Given the description of an element on the screen output the (x, y) to click on. 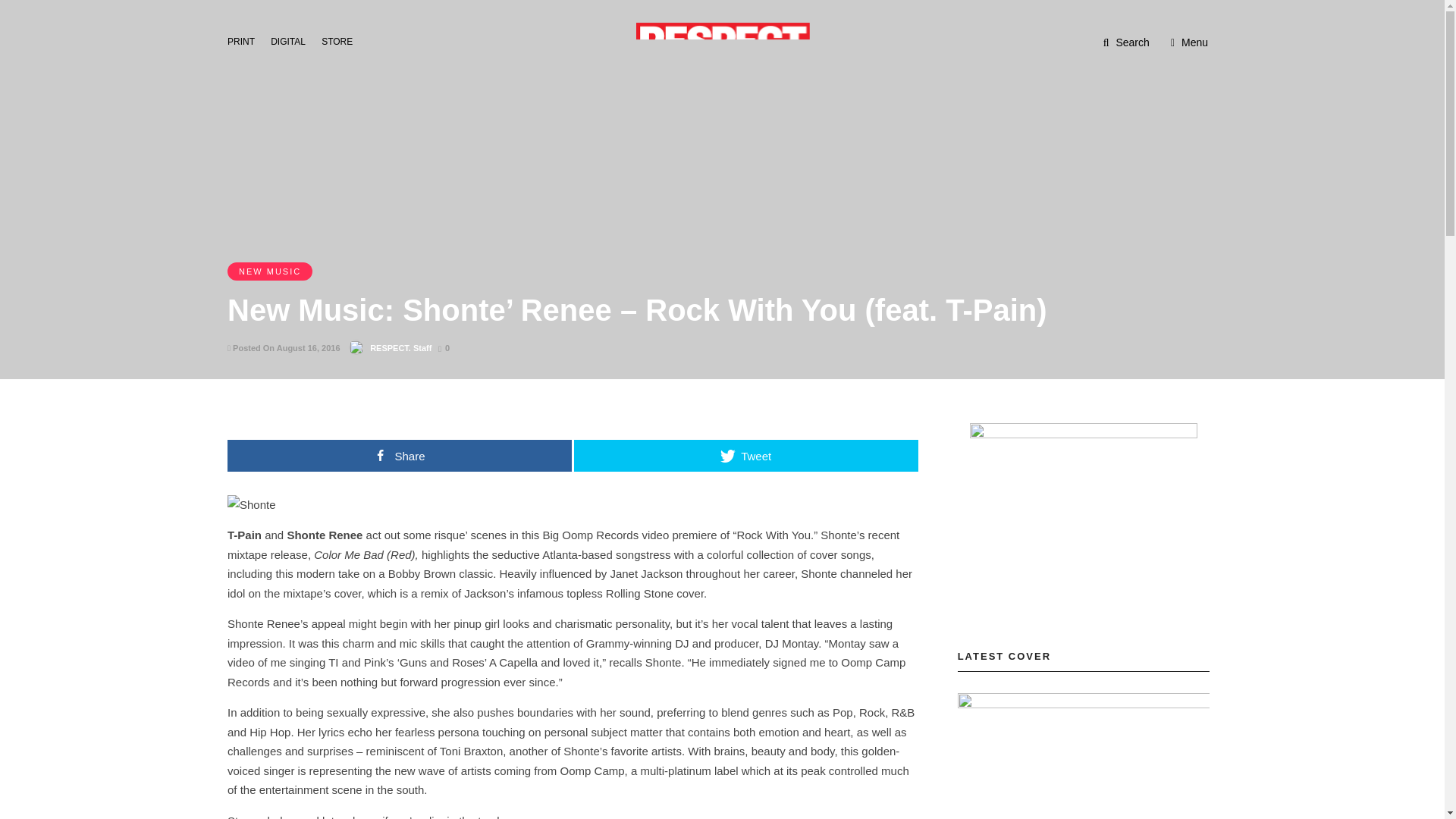
NEW MUSIC (270, 271)
PRINT (245, 40)
STORE (341, 40)
Menu (1189, 41)
Search (1126, 41)
RESPECT. Staff (399, 347)
DIGITAL (292, 40)
